Given the description of an element on the screen output the (x, y) to click on. 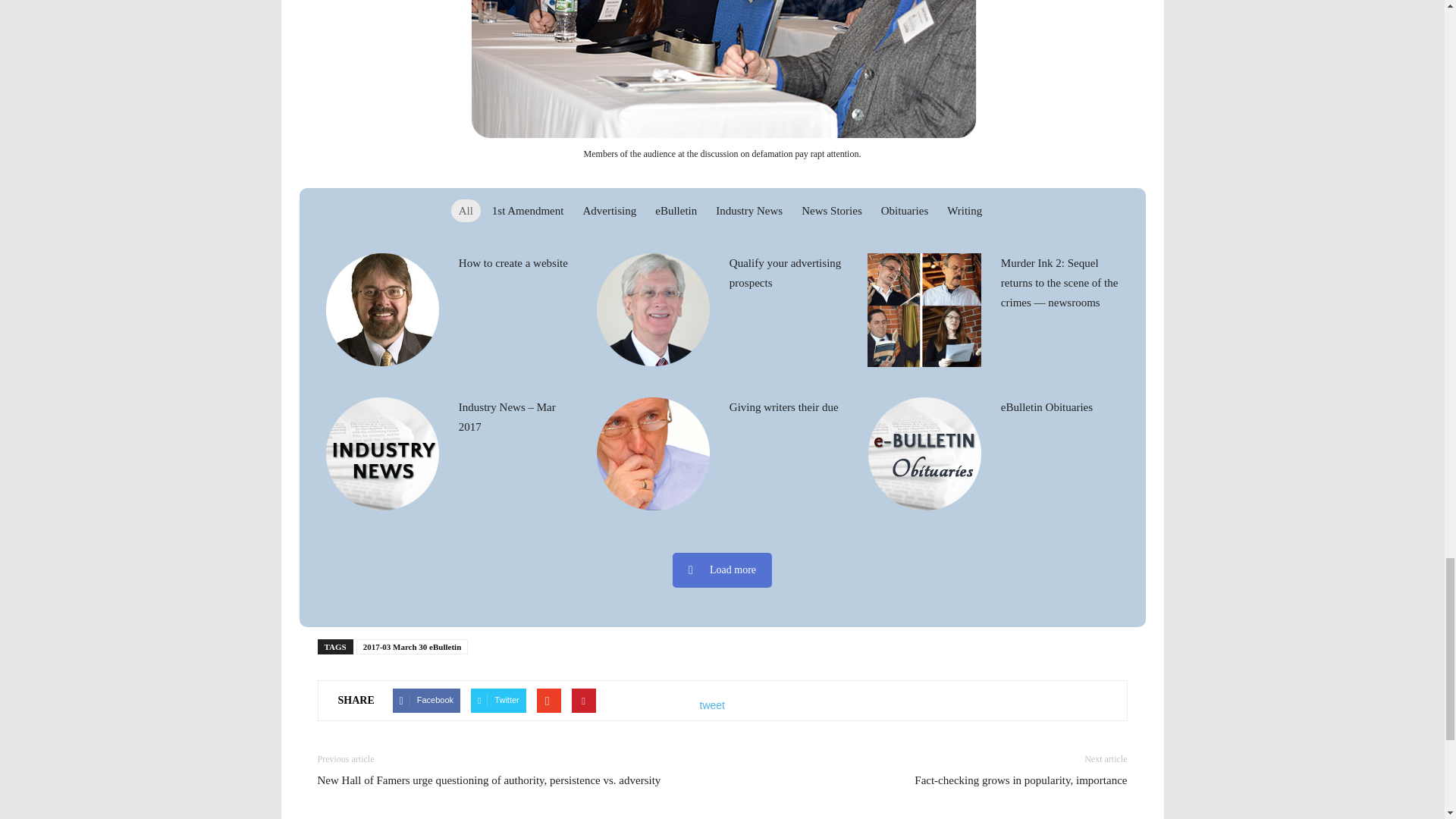
How to create a website (512, 263)
Audience-learning-about-libel-law (721, 72)
How to create a website (381, 309)
